Given the description of an element on the screen output the (x, y) to click on. 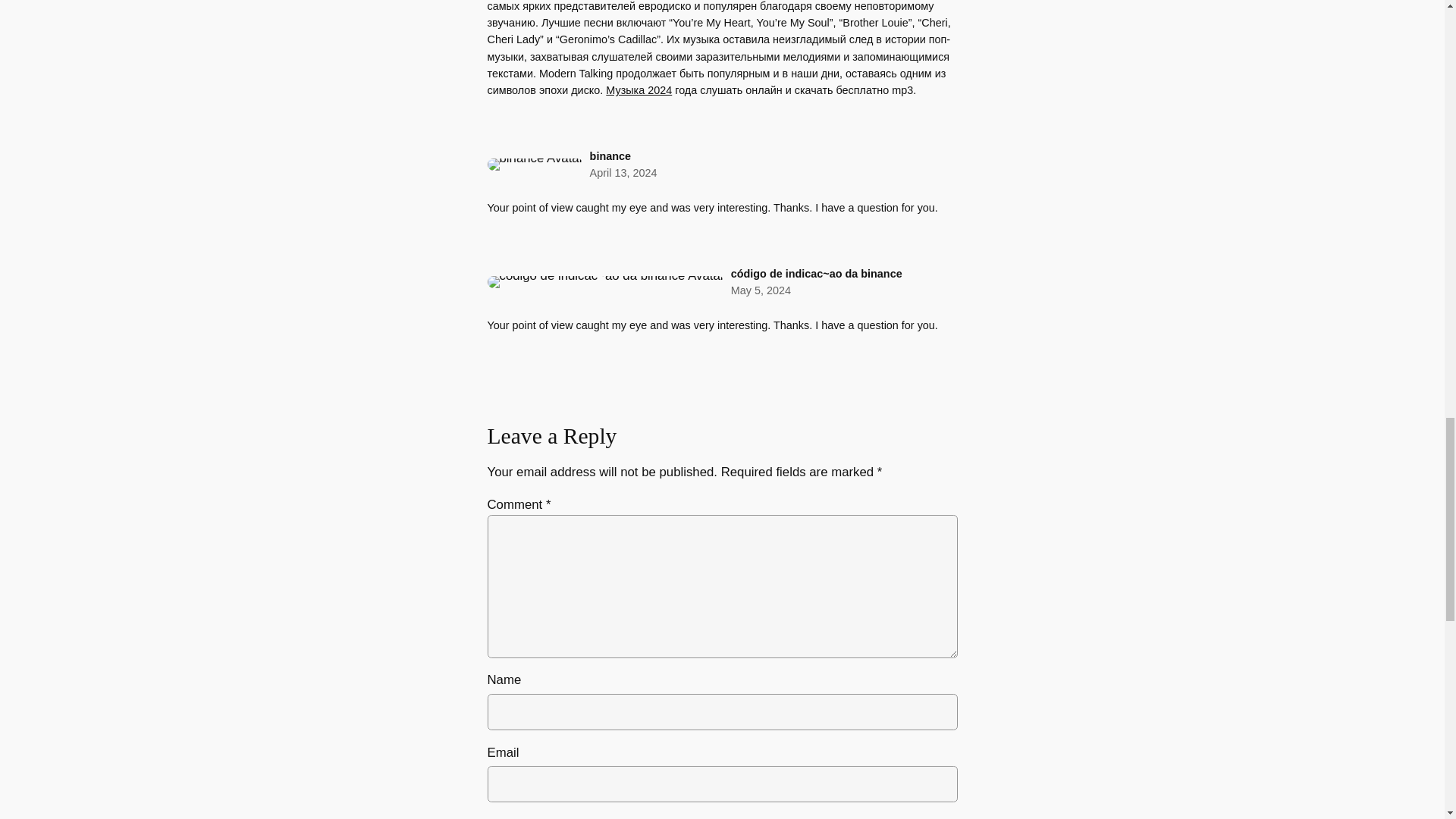
April 13, 2024 (623, 173)
binance (609, 155)
May 5, 2024 (760, 290)
